Given the description of an element on the screen output the (x, y) to click on. 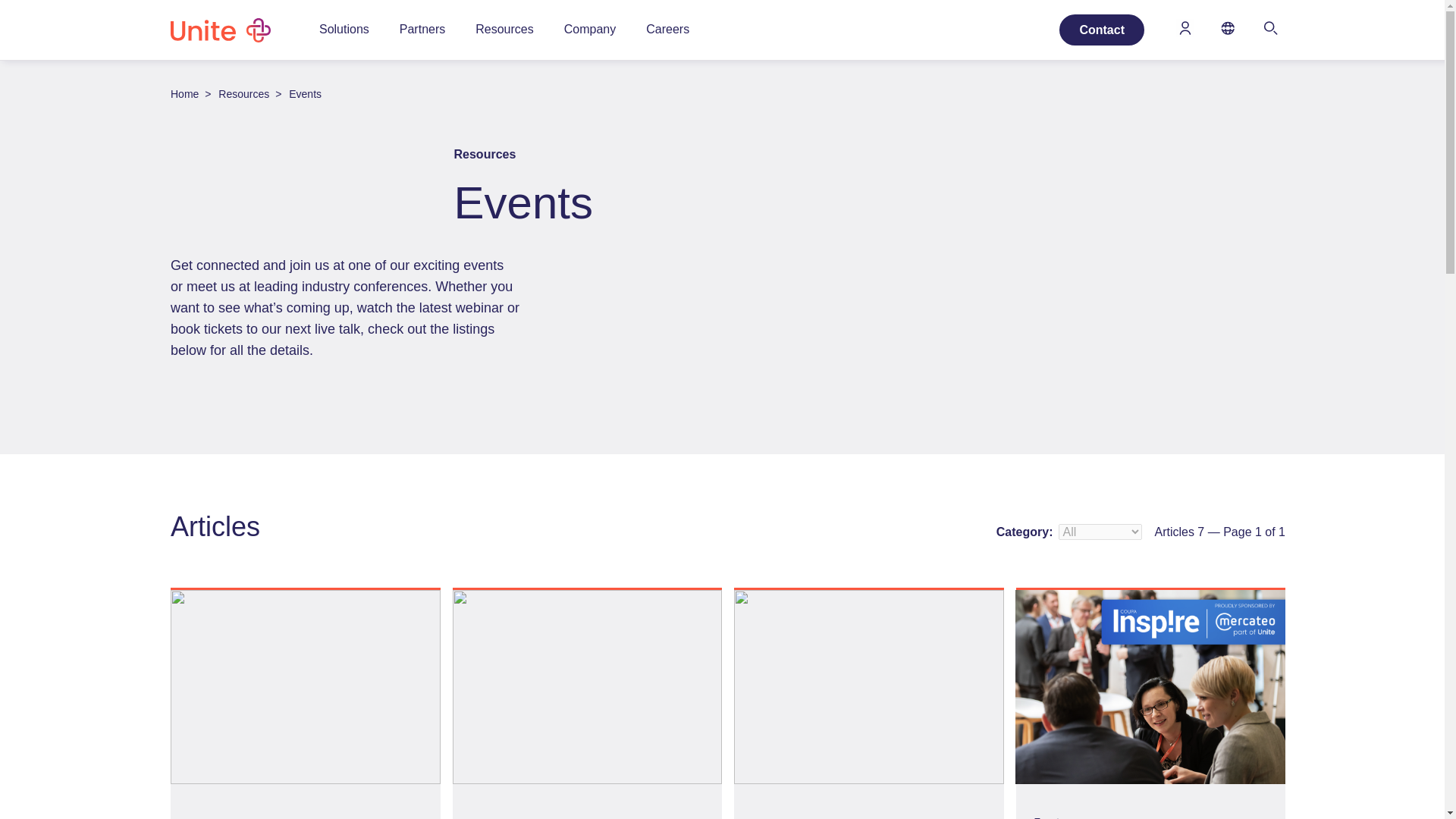
Login (1184, 29)
Contact (1101, 29)
Open search window (1270, 29)
